Given the description of an element on the screen output the (x, y) to click on. 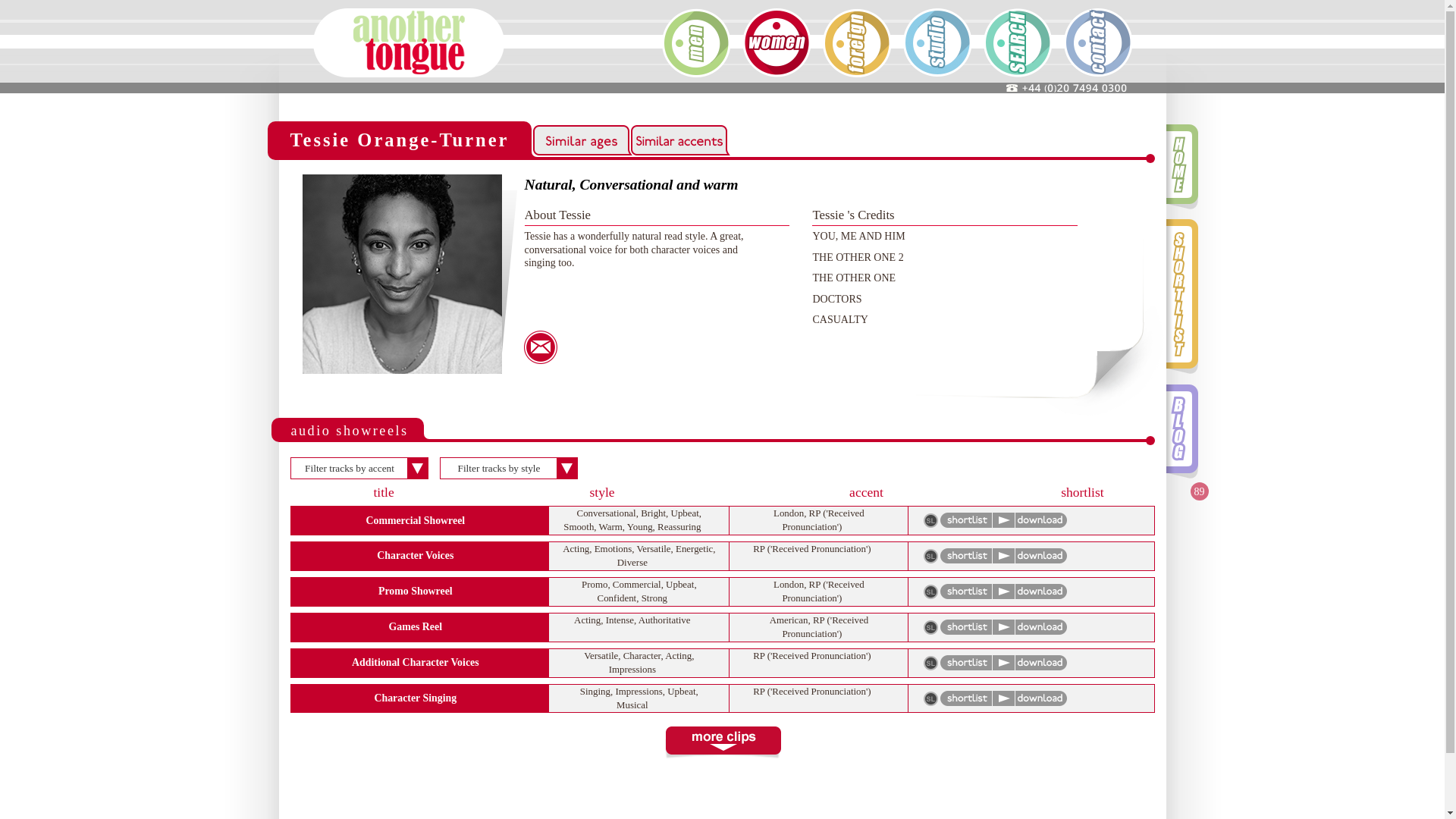
Similar Accents (678, 140)
Similar Ages (580, 140)
